Given the description of an element on the screen output the (x, y) to click on. 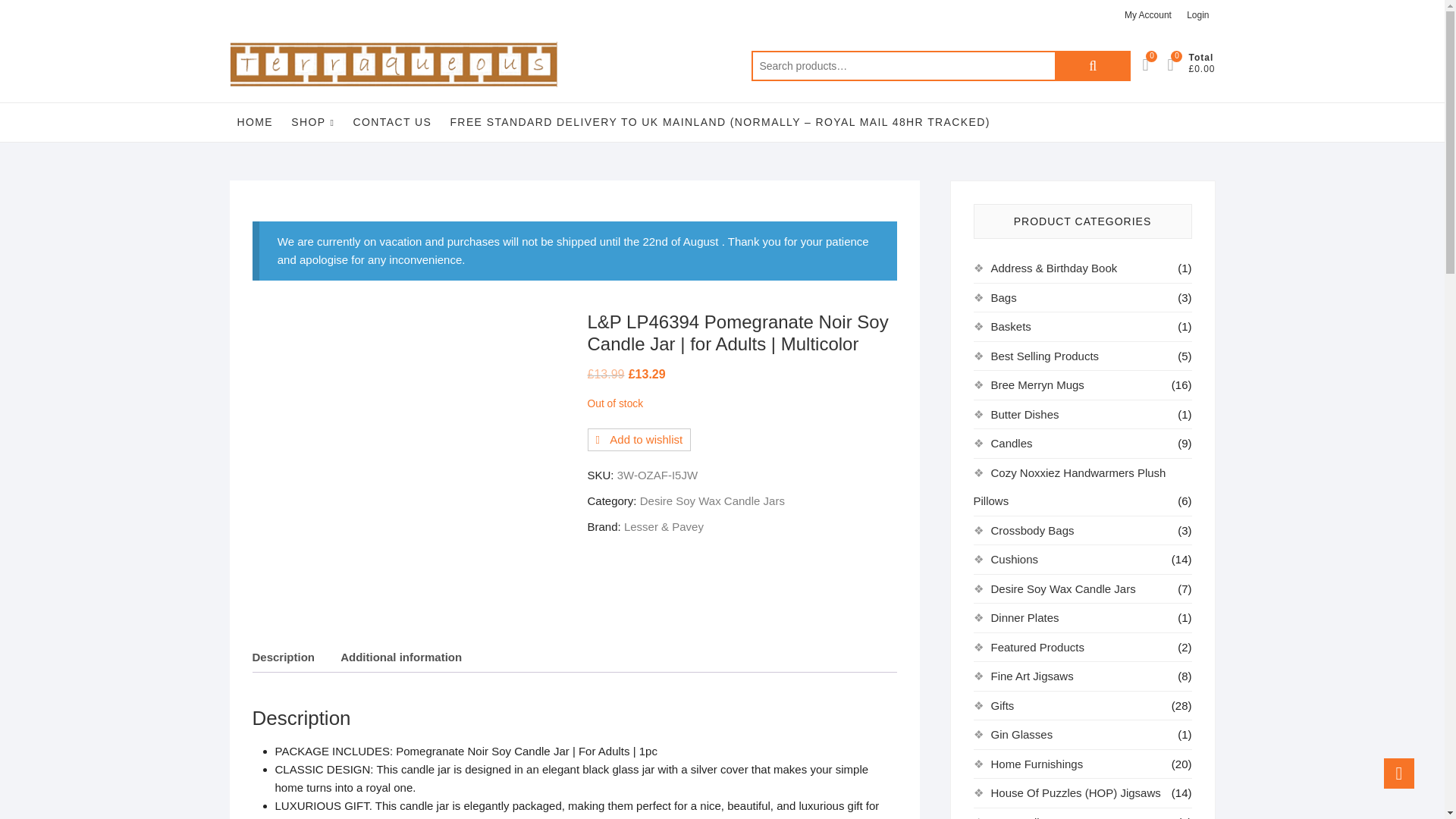
Login (1197, 15)
My Account (1147, 15)
SHOP (312, 122)
Search (1092, 65)
HOME (254, 121)
